Given the description of an element on the screen output the (x, y) to click on. 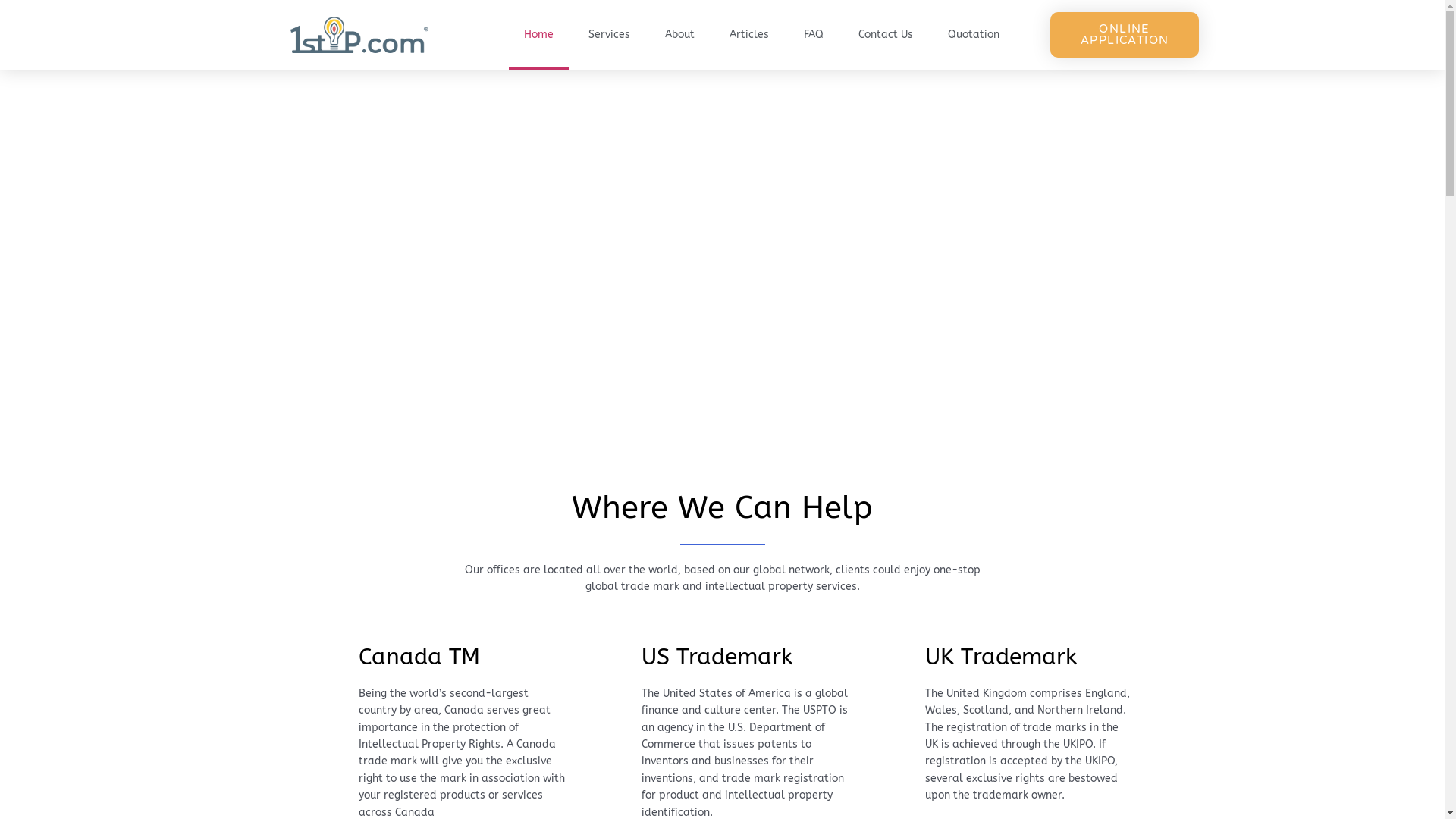
FAQ Element type: text (813, 34)
About Element type: text (679, 34)
Services Element type: text (609, 34)
Canada TM Element type: text (419, 656)
Home Element type: text (538, 34)
US Trademark Element type: text (716, 656)
ONLINE APPLICATION Element type: text (1124, 34)
Contact Us Element type: text (885, 34)
UK Trademark Element type: text (1000, 656)
Quotation Element type: text (973, 34)
Articles Element type: text (749, 34)
